Given the description of an element on the screen output the (x, y) to click on. 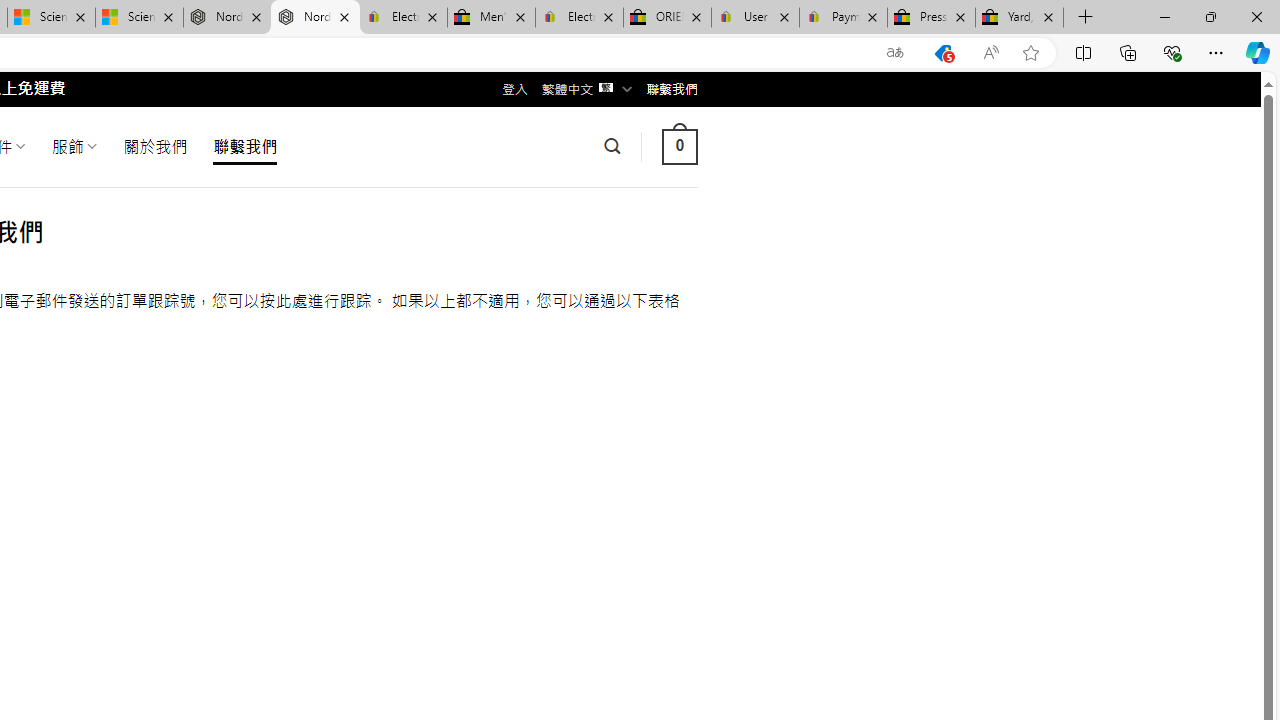
Yard, Garden & Outdoor Living (1019, 17)
User Privacy Notice | eBay (754, 17)
Press Room - eBay Inc. (931, 17)
Payments Terms of Use | eBay.com (843, 17)
